Given the description of an element on the screen output the (x, y) to click on. 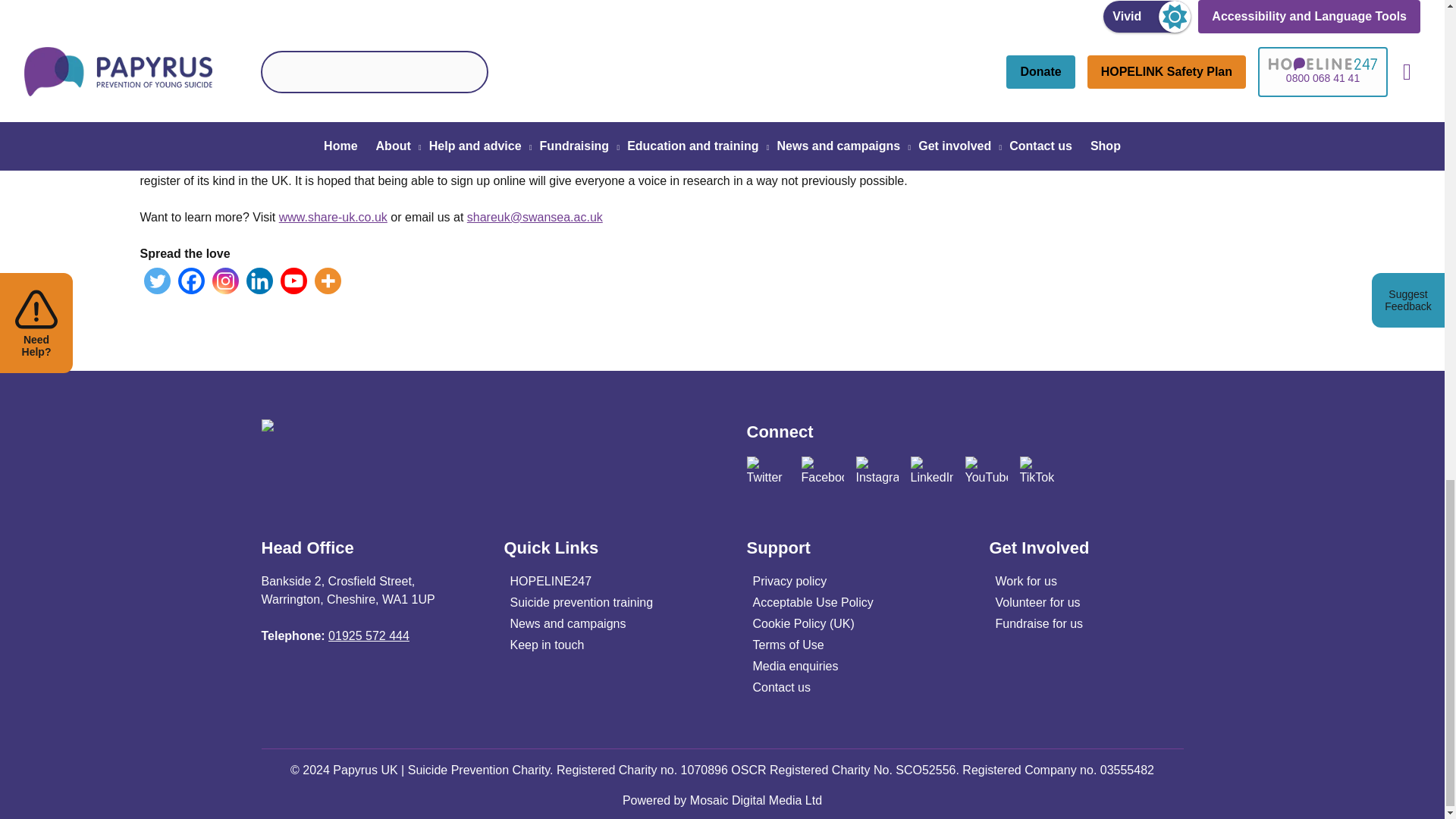
More (327, 280)
Facebook (190, 280)
Instagram (225, 280)
Linkedin (259, 280)
Youtube (294, 280)
Twitter (157, 280)
